Given the description of an element on the screen output the (x, y) to click on. 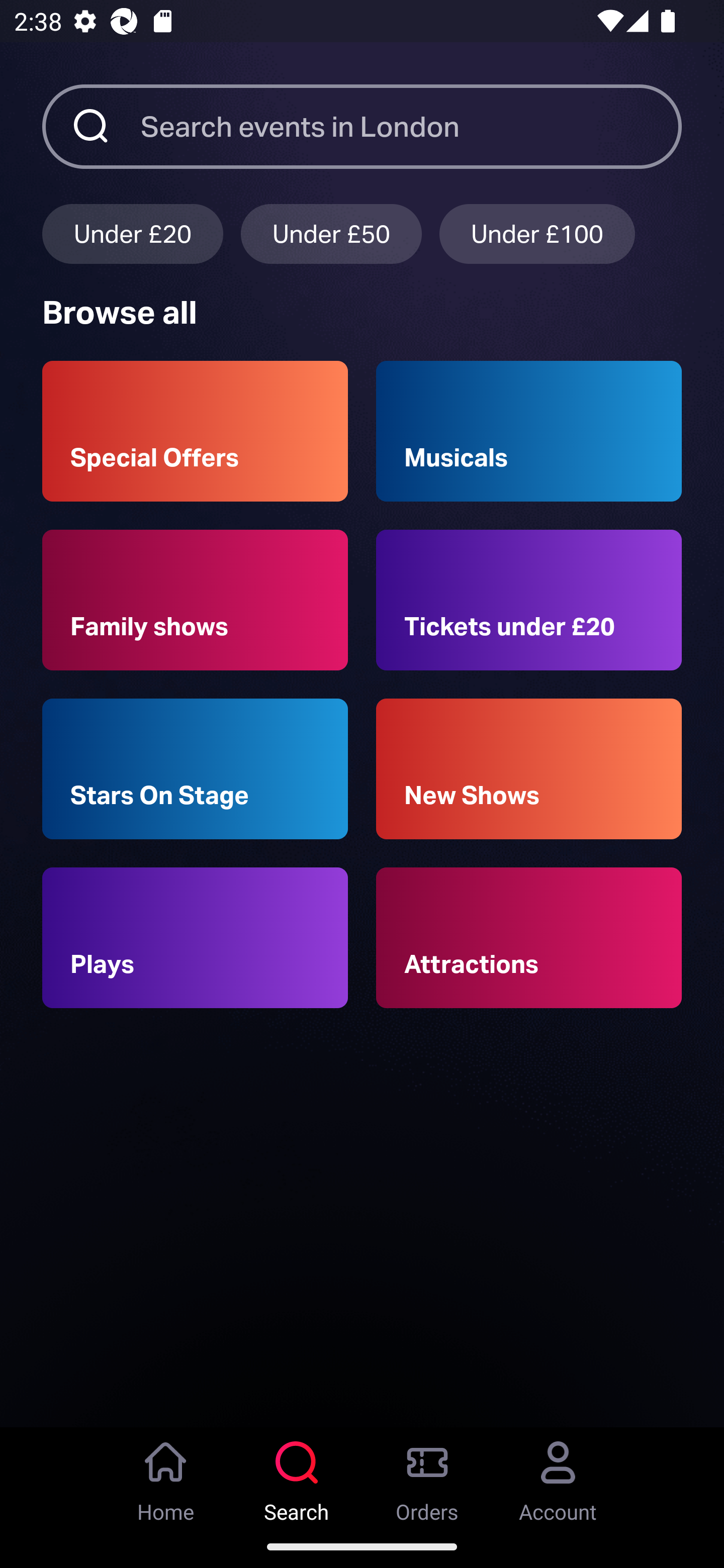
Search events in London (411, 126)
Under £20 (131, 233)
Under £50 (331, 233)
Under £100 (536, 233)
Special Offers (194, 430)
Musicals (528, 430)
Family shows (194, 600)
Tickets under £20  (528, 600)
Stars On Stage (194, 768)
New Shows (528, 768)
Plays (194, 937)
Attractions  (528, 937)
Home (165, 1475)
Orders (427, 1475)
Account (558, 1475)
